Given the description of an element on the screen output the (x, y) to click on. 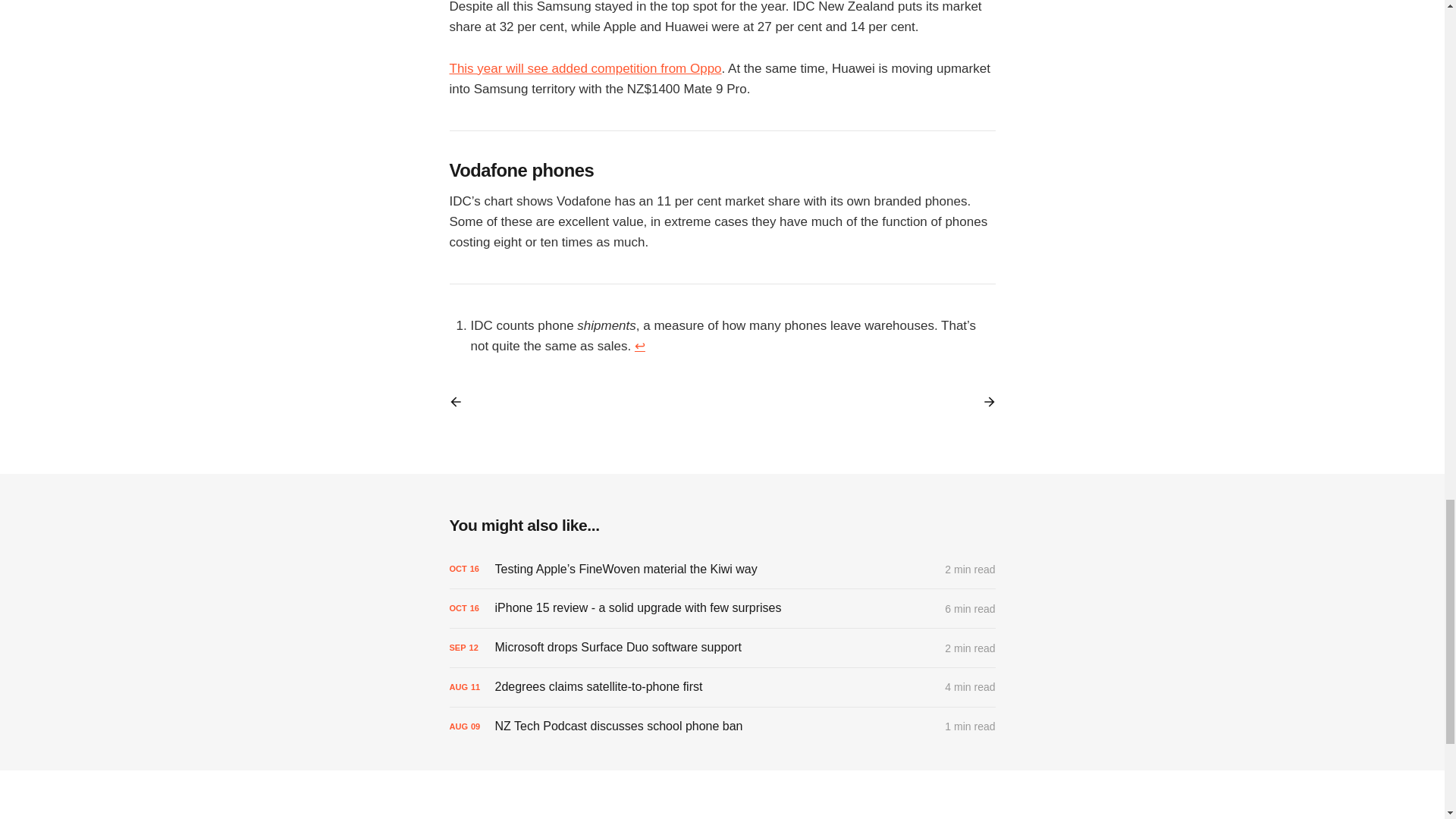
This year will see added competition from Oppo (584, 68)
